Given the description of an element on the screen output the (x, y) to click on. 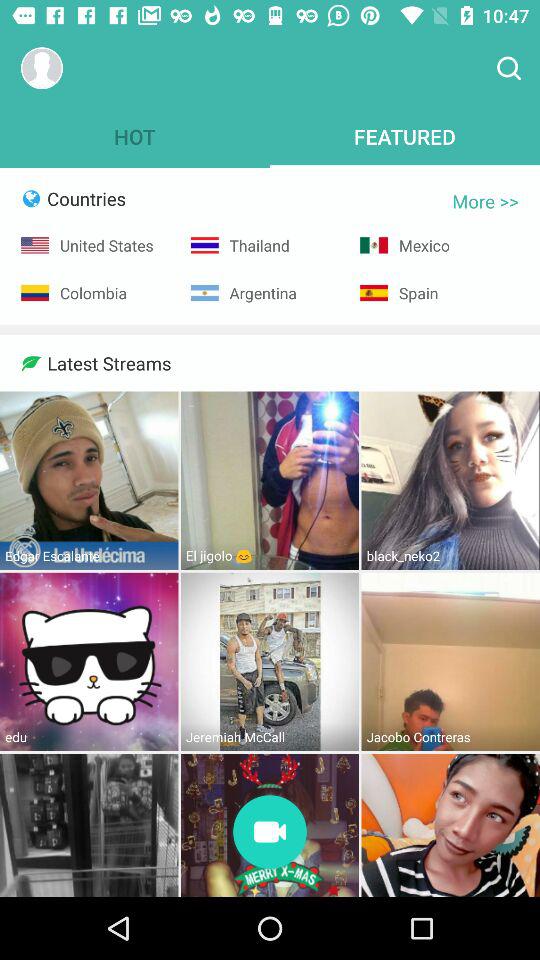
click the icon above the more >> (508, 67)
